Given the description of an element on the screen output the (x, y) to click on. 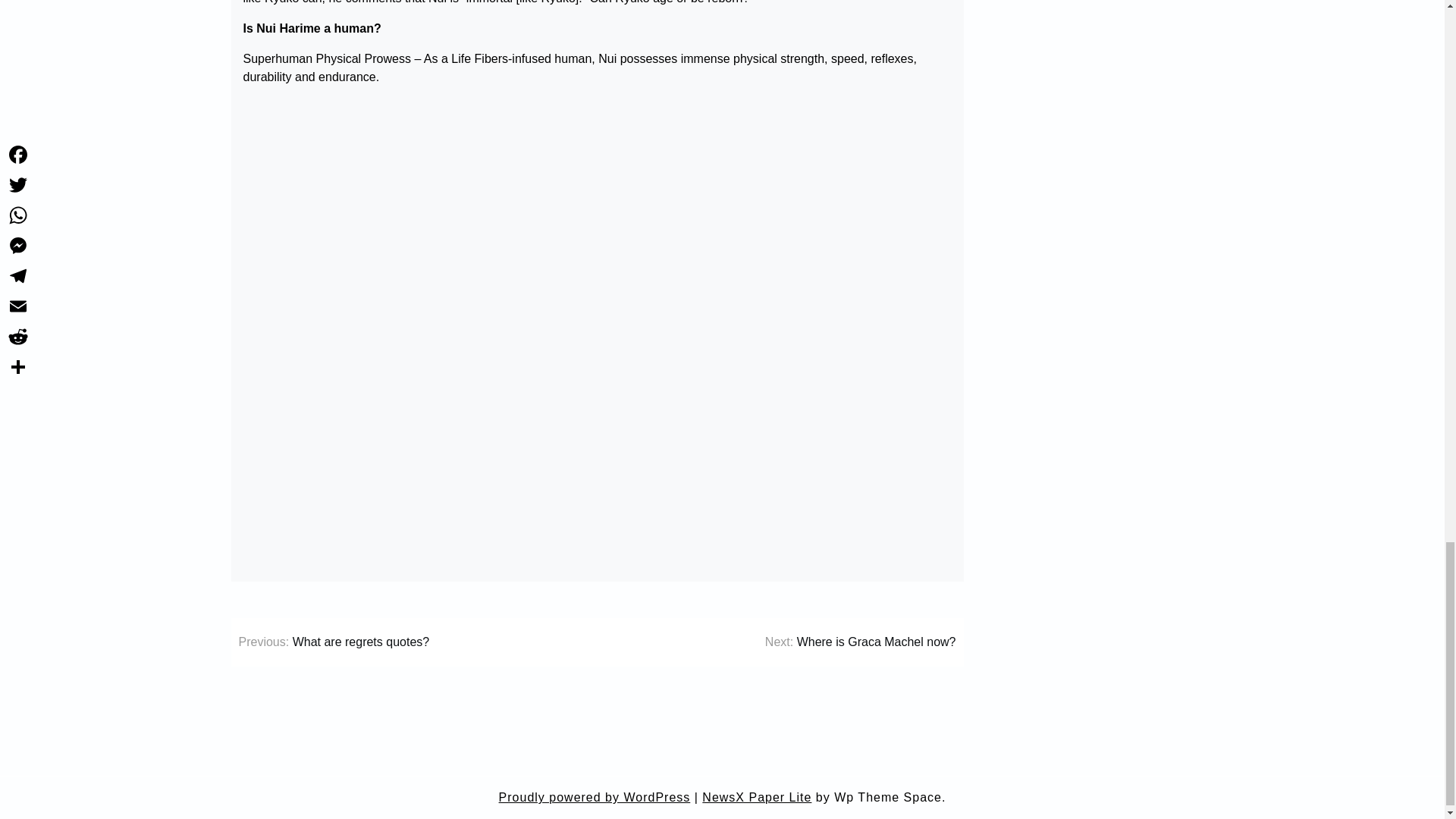
Previous: What are regrets quotes? (333, 642)
